Given the description of an element on the screen output the (x, y) to click on. 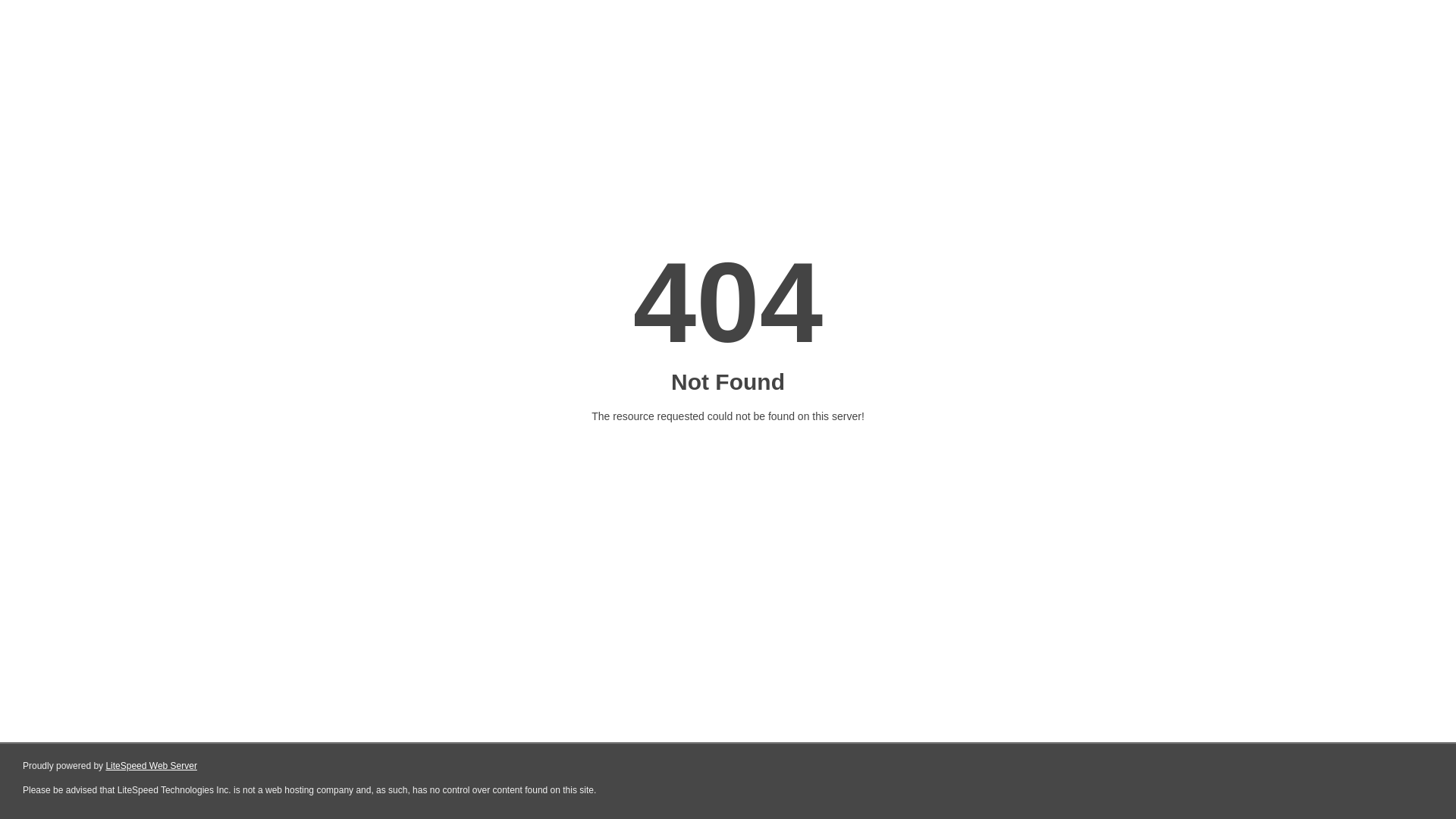
LiteSpeed Web Server Element type: text (151, 765)
